Given the description of an element on the screen output the (x, y) to click on. 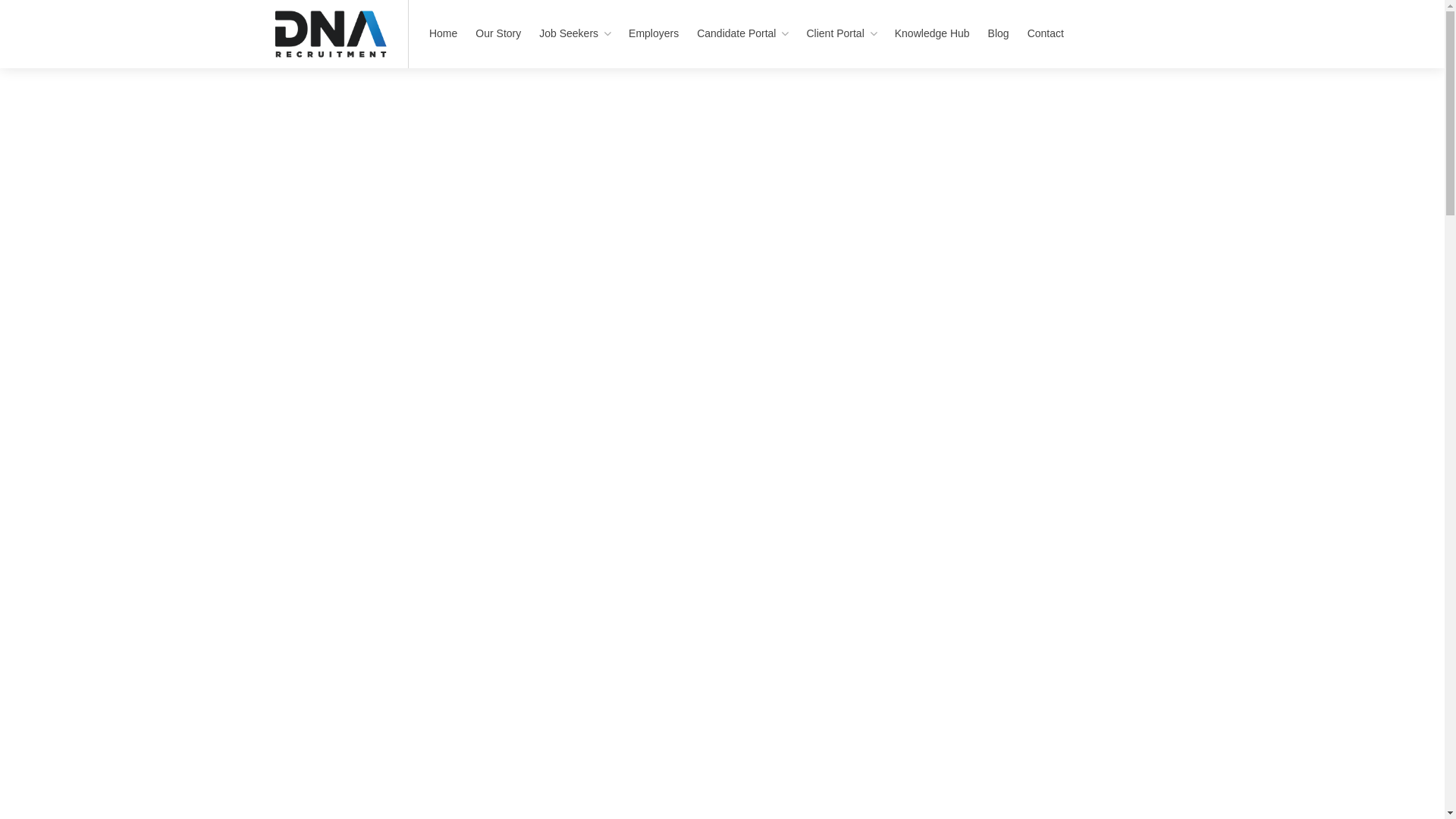
Client Portal Element type: text (840, 33)
DNA Recruitment Element type: hover (331, 41)
Blog Element type: text (998, 33)
Job Seekers Element type: text (574, 33)
Candidate Portal Element type: text (742, 33)
Home Element type: text (442, 33)
Employers Element type: text (653, 33)
Knowledge Hub Element type: text (932, 33)
Contact Element type: text (1045, 33)
Our Story Element type: text (498, 33)
